Given the description of an element on the screen output the (x, y) to click on. 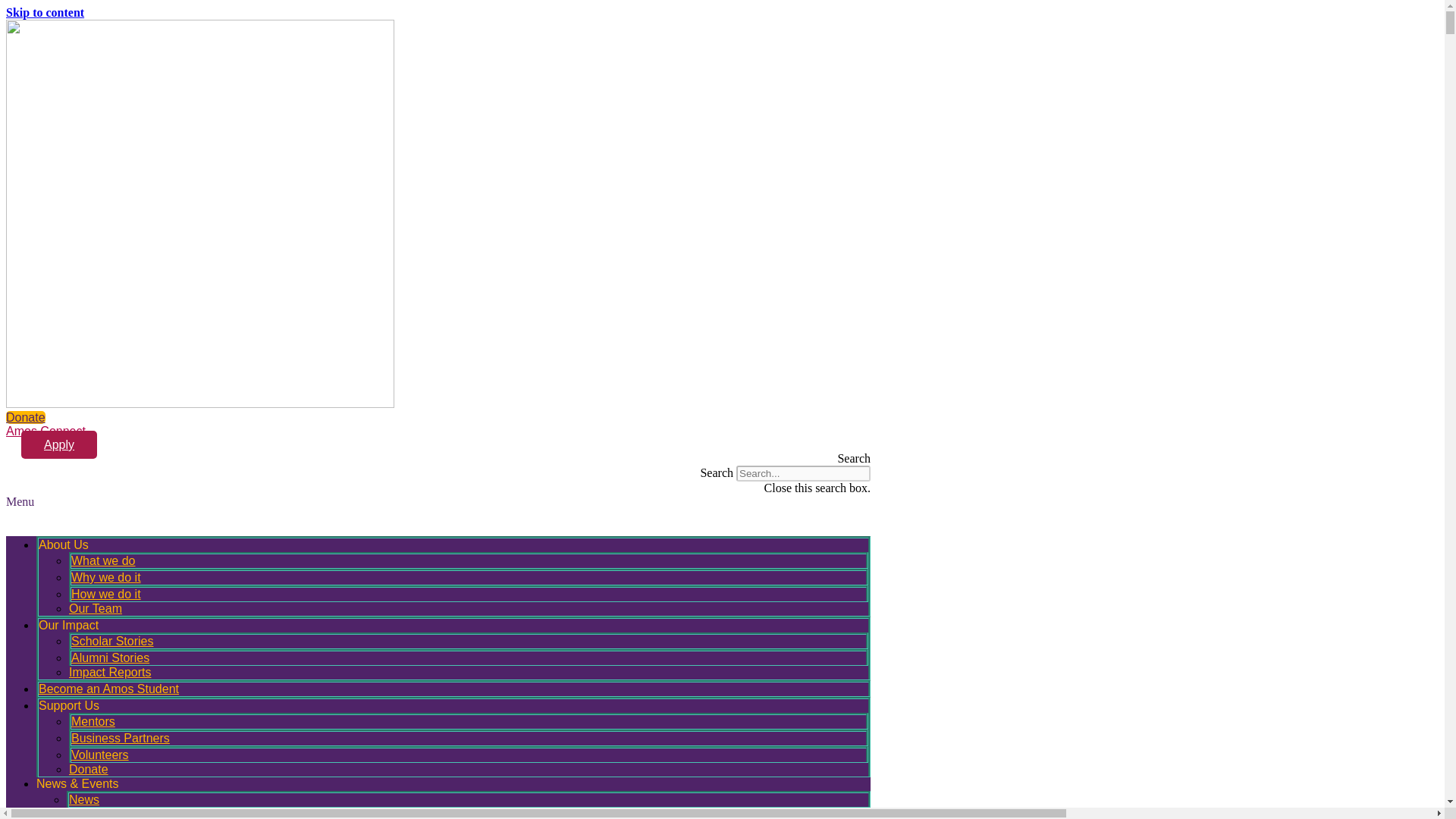
Support Us (69, 705)
Mentors (93, 721)
Why we do it (106, 577)
Donate (25, 417)
Scholar Stories (112, 641)
About Us (63, 544)
Apply (59, 444)
Alumni Stories (110, 657)
Skip to content (44, 11)
Volunteers (100, 755)
